Given the description of an element on the screen output the (x, y) to click on. 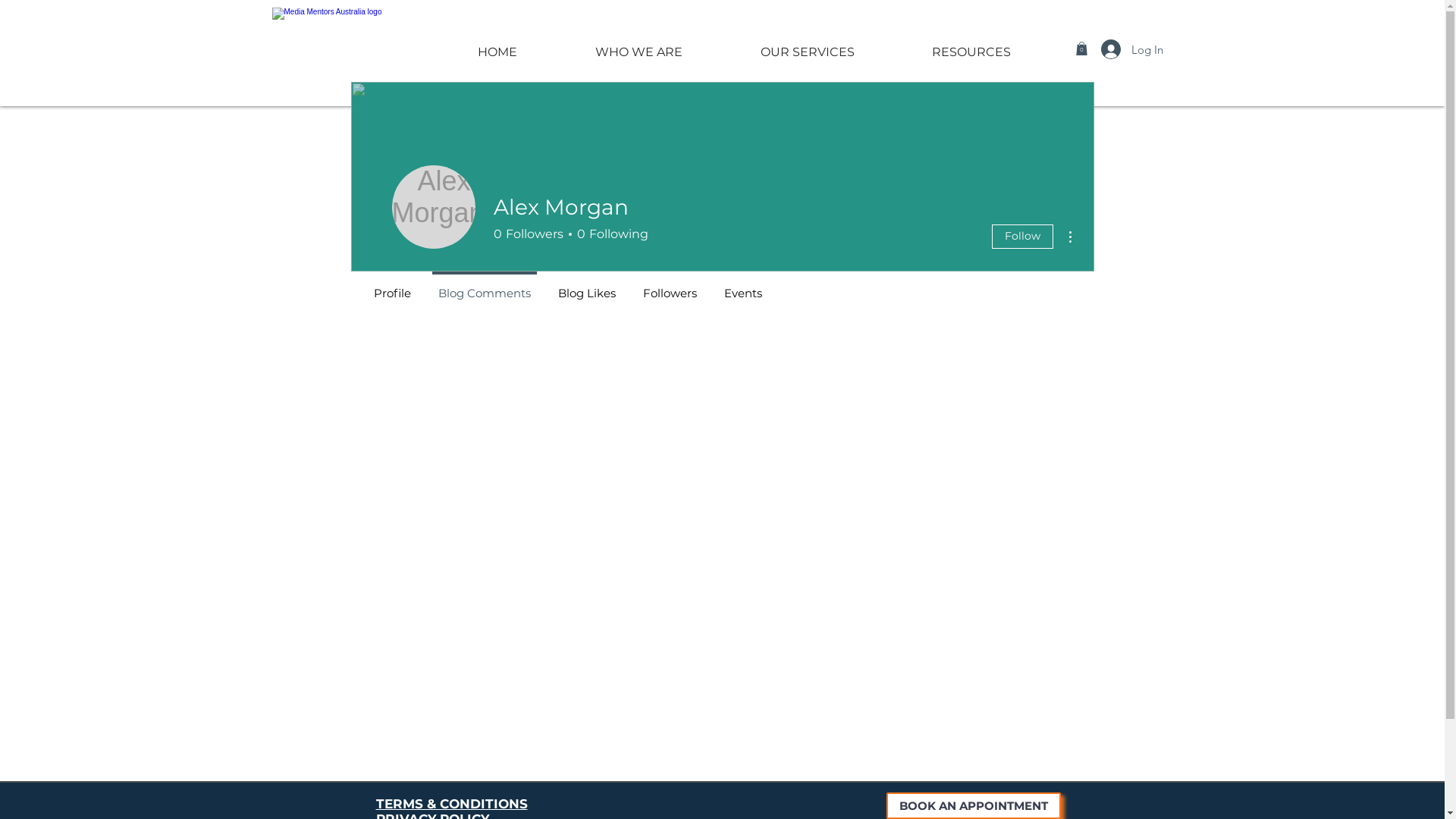
0
Following Element type: text (609, 233)
Events Element type: text (742, 286)
Alex Morgan Element type: hover (432, 206)
Profile Element type: text (391, 286)
0 Element type: text (1080, 48)
Followers Element type: text (669, 286)
Follow Element type: text (1022, 236)
Blog Likes Element type: text (586, 286)
Blog Comments Element type: text (484, 286)
HOME Element type: text (496, 45)
Log In Element type: text (1131, 48)
0
Followers Element type: text (527, 233)
TERMS & CONDITIONS Element type: text (451, 803)
